Given the description of an element on the screen output the (x, y) to click on. 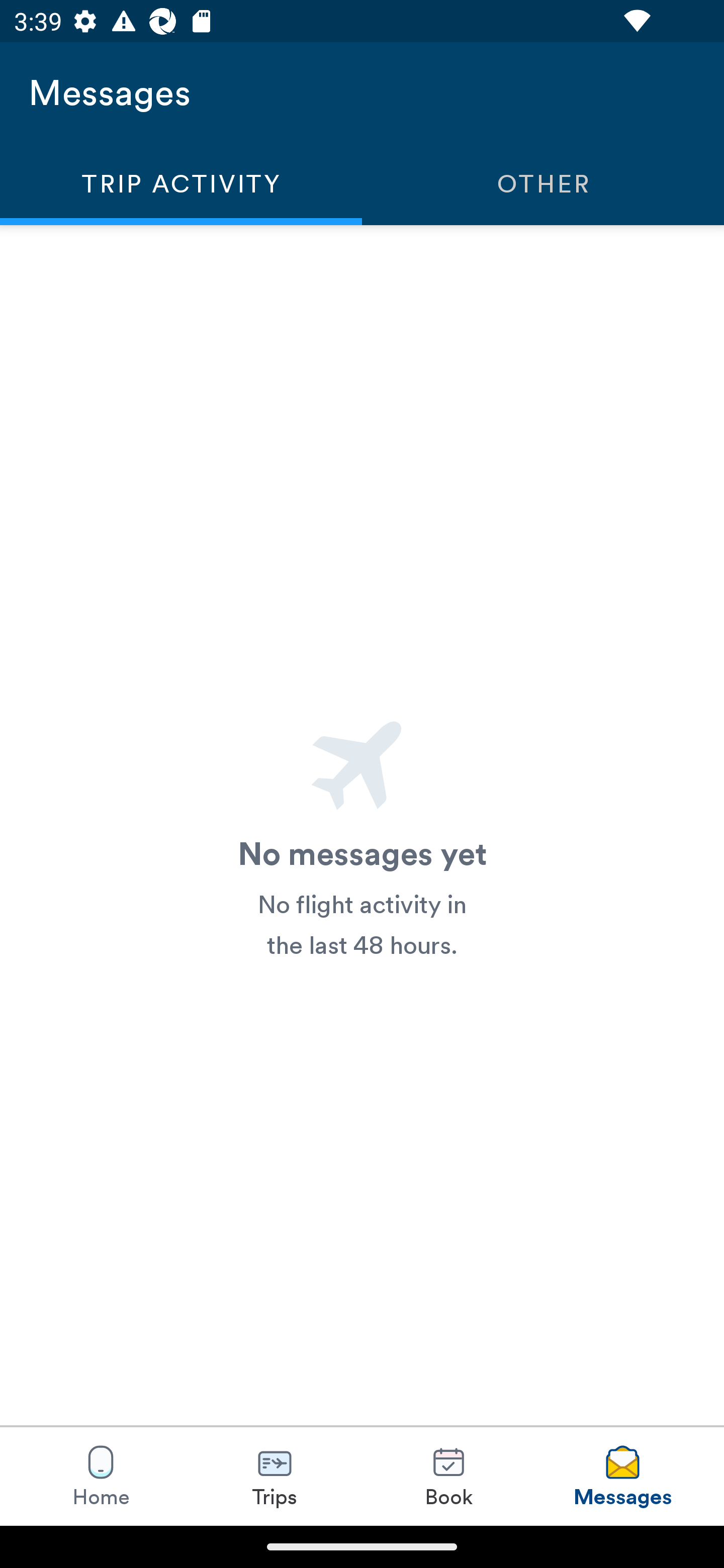
OTHER (543, 183)
Home (100, 1475)
Trips (275, 1475)
Book (448, 1475)
Messages (622, 1475)
